Given the description of an element on the screen output the (x, y) to click on. 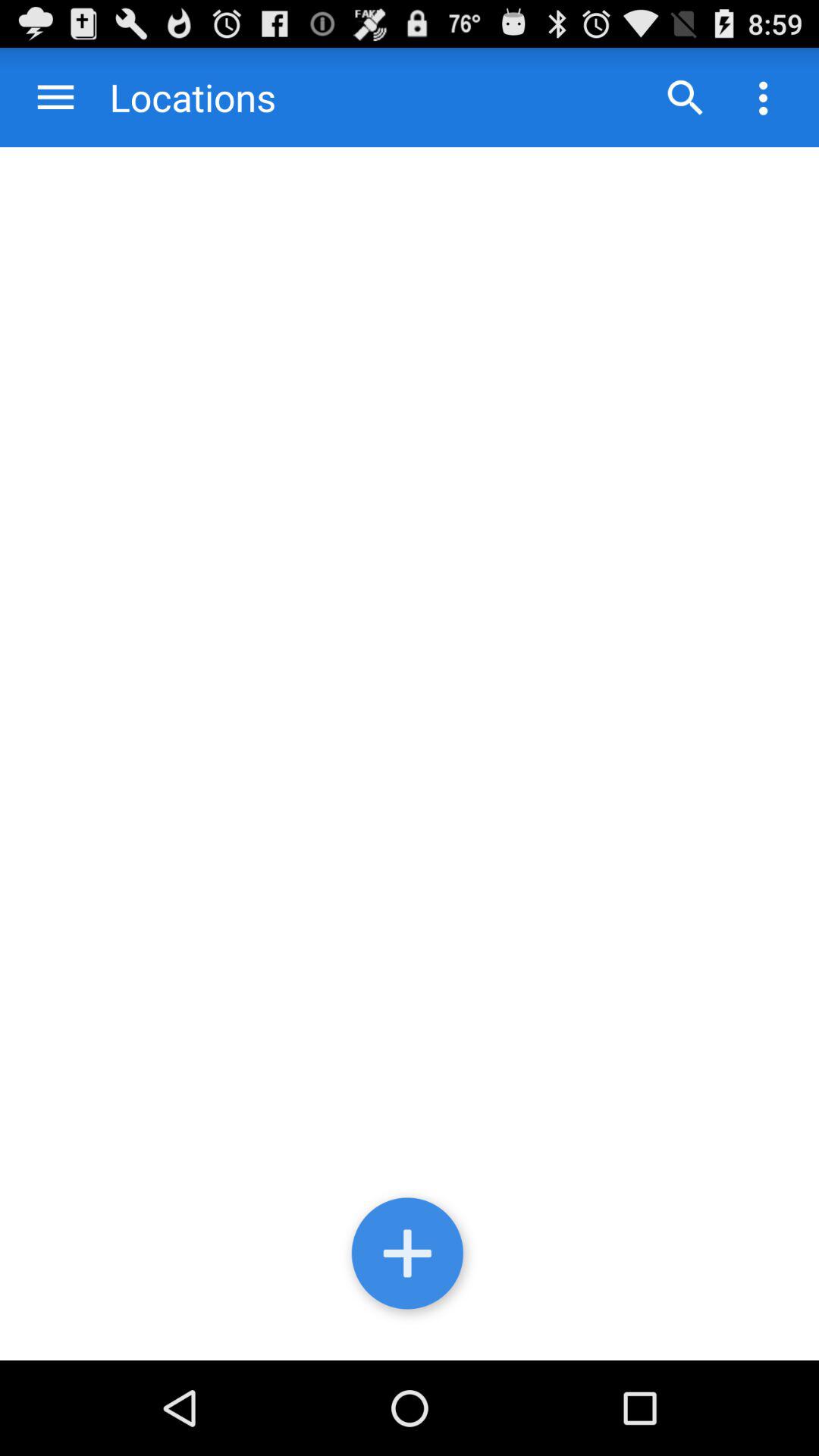
tap item at the center (409, 753)
